Given the description of an element on the screen output the (x, y) to click on. 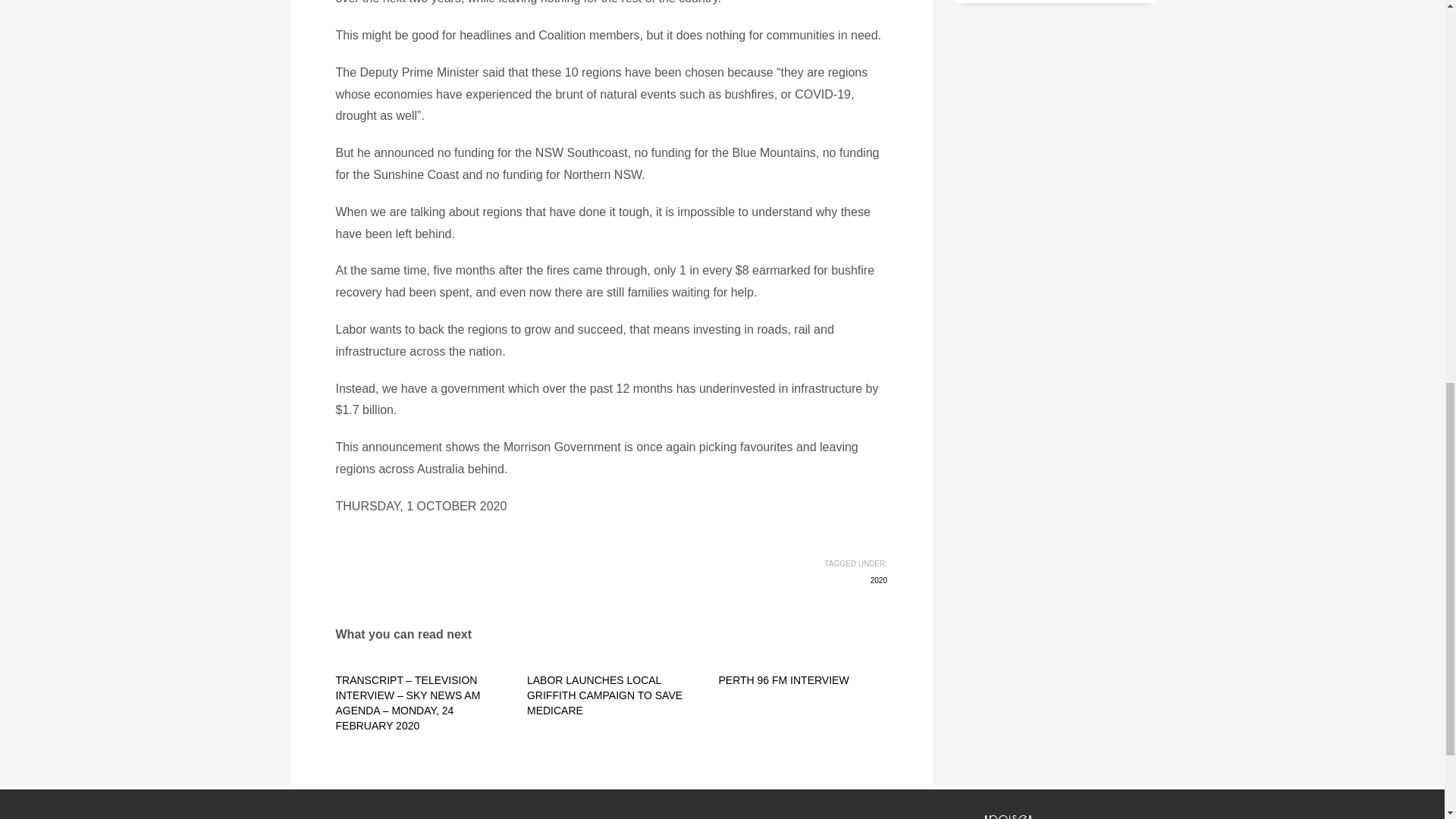
PERTH 96 FM INTERVIEW (782, 680)
LABOR LAUNCHES LOCAL GRIFFITH CAMPAIGN TO SAVE MEDICARE (604, 695)
Noise Birds (1030, 814)
2020 (878, 580)
